Given the description of an element on the screen output the (x, y) to click on. 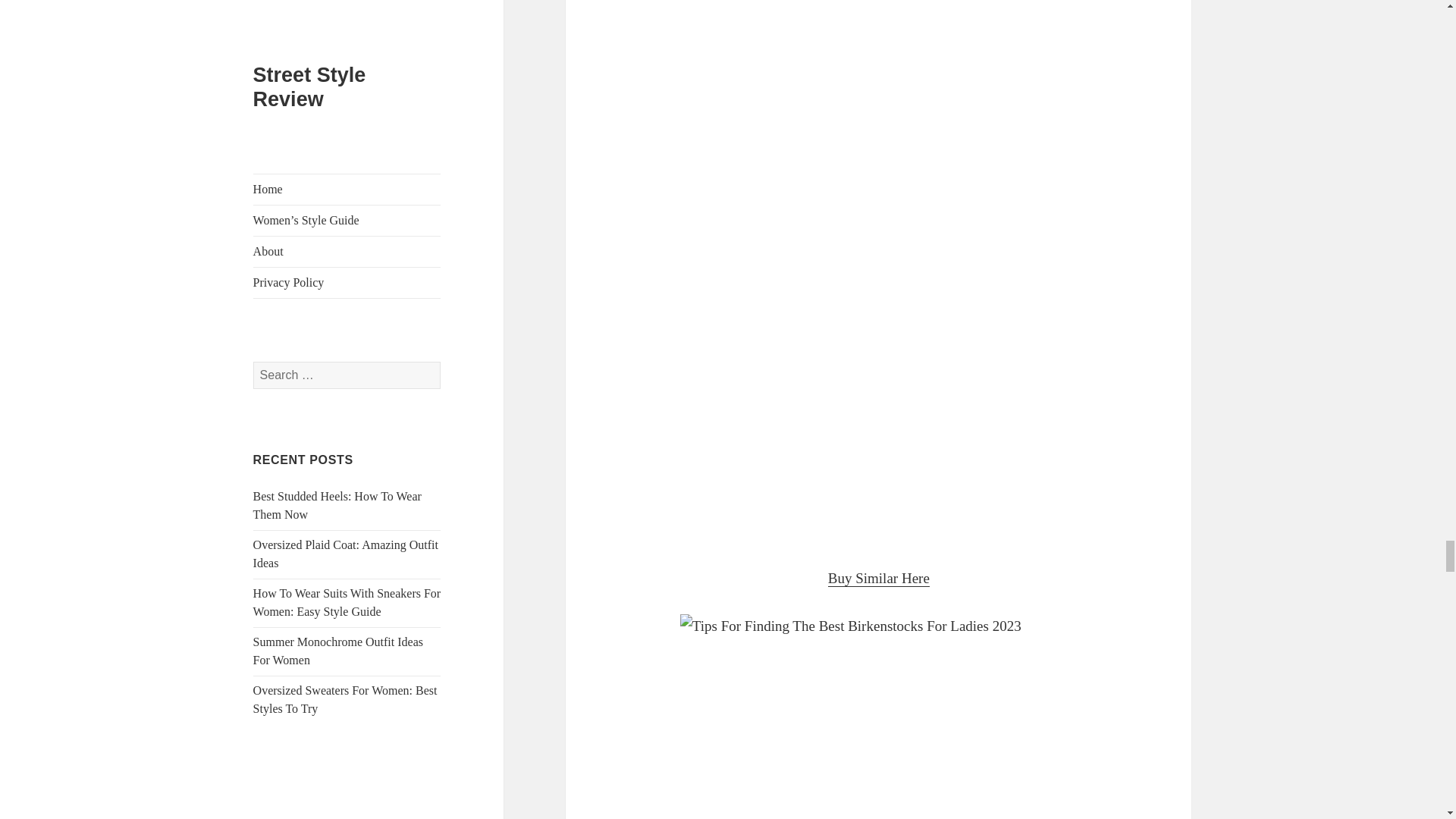
Buy Similar Here (879, 578)
